Given the description of an element on the screen output the (x, y) to click on. 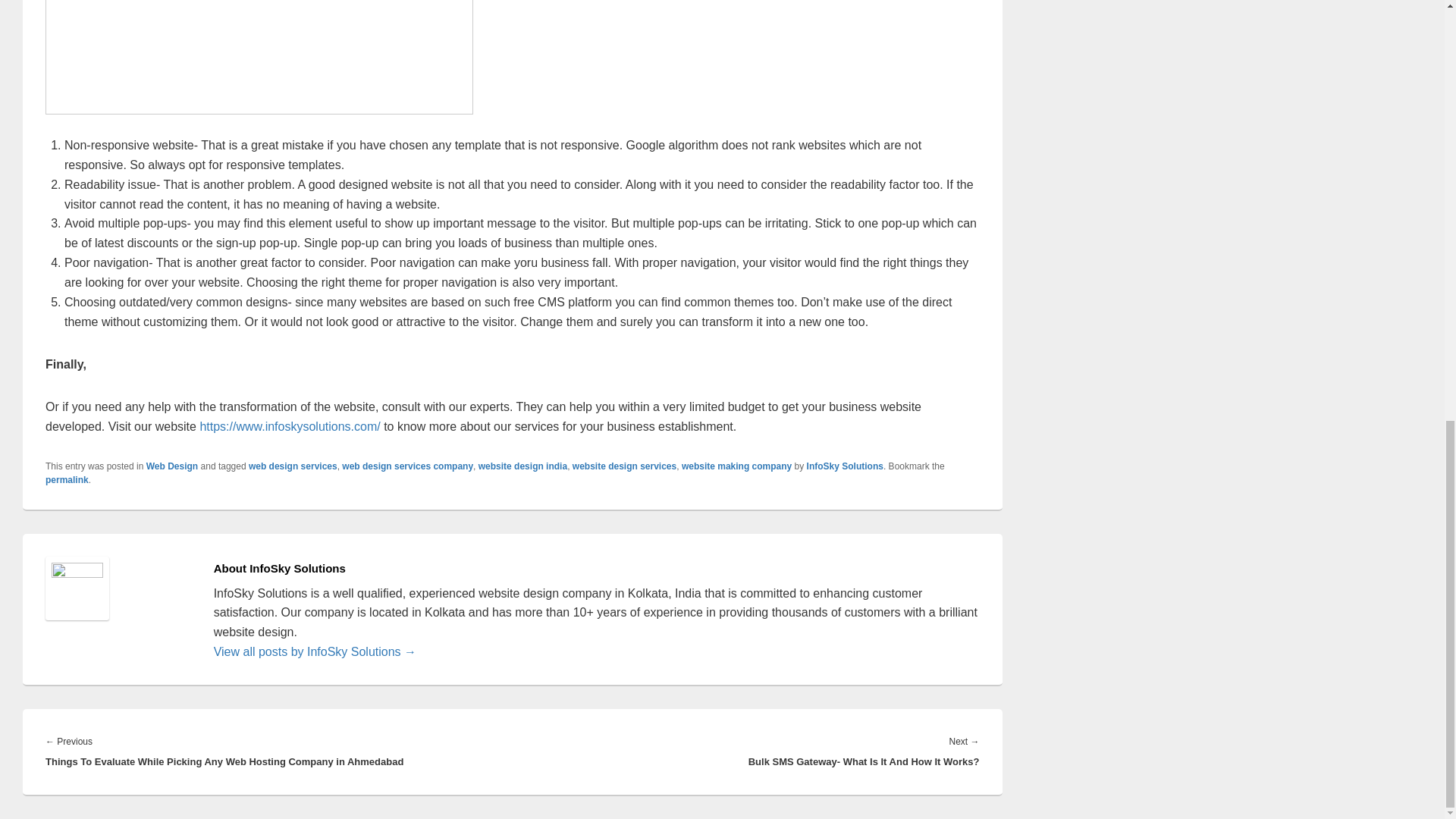
Web Design (172, 466)
web design services company (407, 466)
web design services (292, 466)
